Given the description of an element on the screen output the (x, y) to click on. 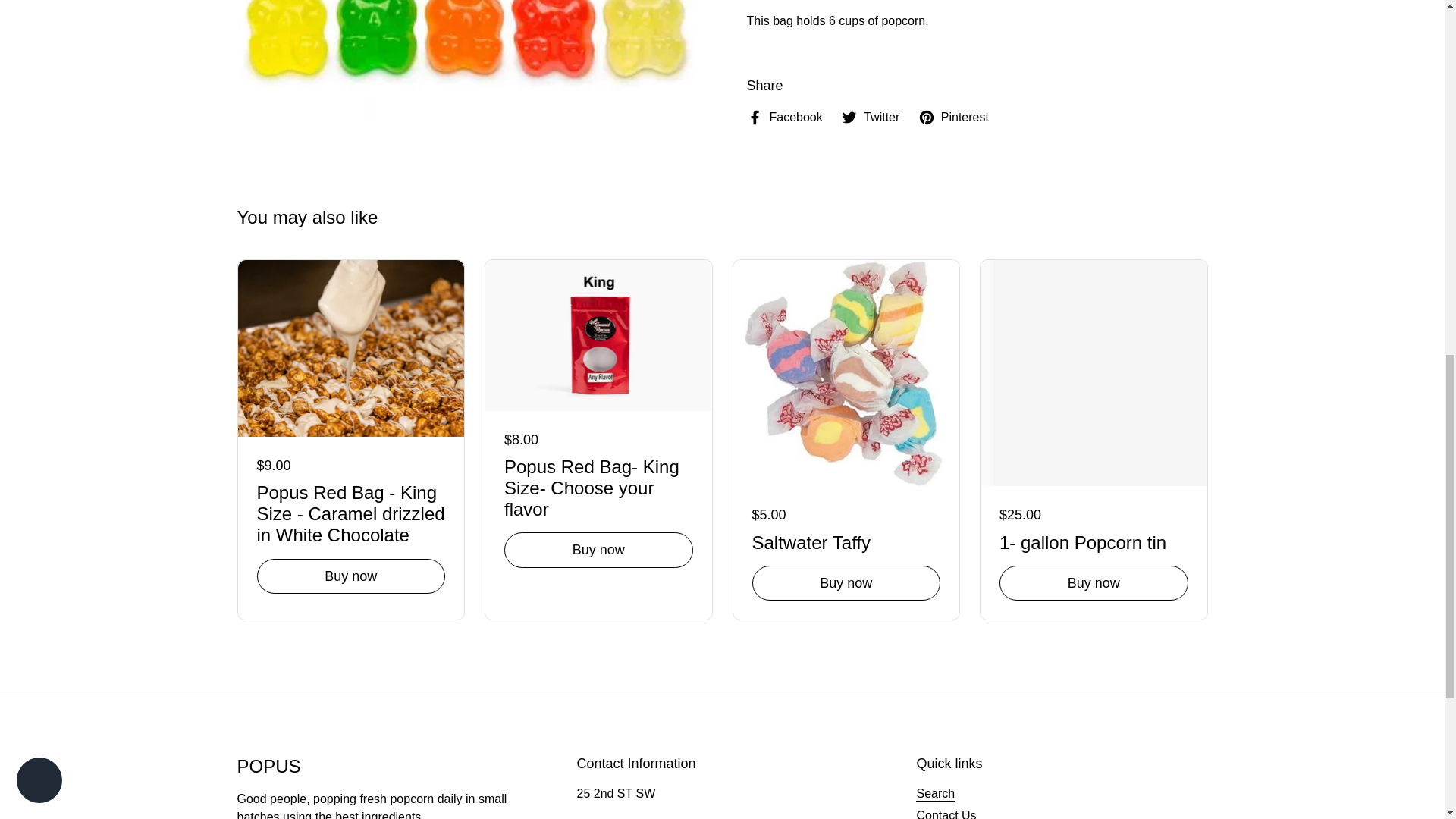
Saltwater Taffy (846, 540)
Popus Red Bag- King Size- Choose your flavor (598, 485)
Share on twitter (870, 117)
1- gallon Popcorn tin (1093, 540)
Share on pinterest (953, 117)
Share on facebook (783, 117)
